Given the description of an element on the screen output the (x, y) to click on. 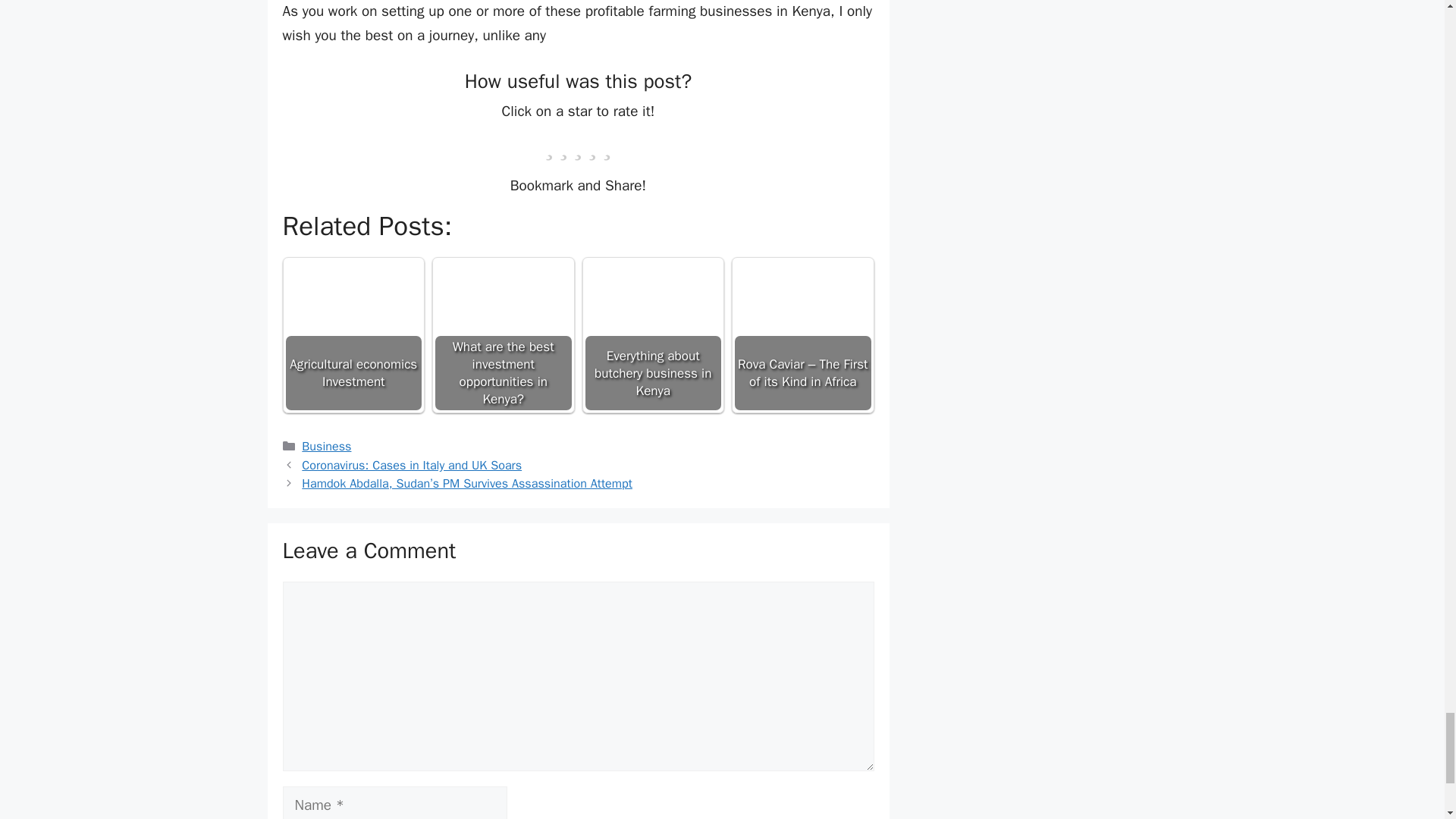
Everything about butchery business in Kenya (652, 279)
What are the best investment opportunities in Kenya? (503, 279)
Agricultural economics Investment (353, 299)
